Given the description of an element on the screen output the (x, y) to click on. 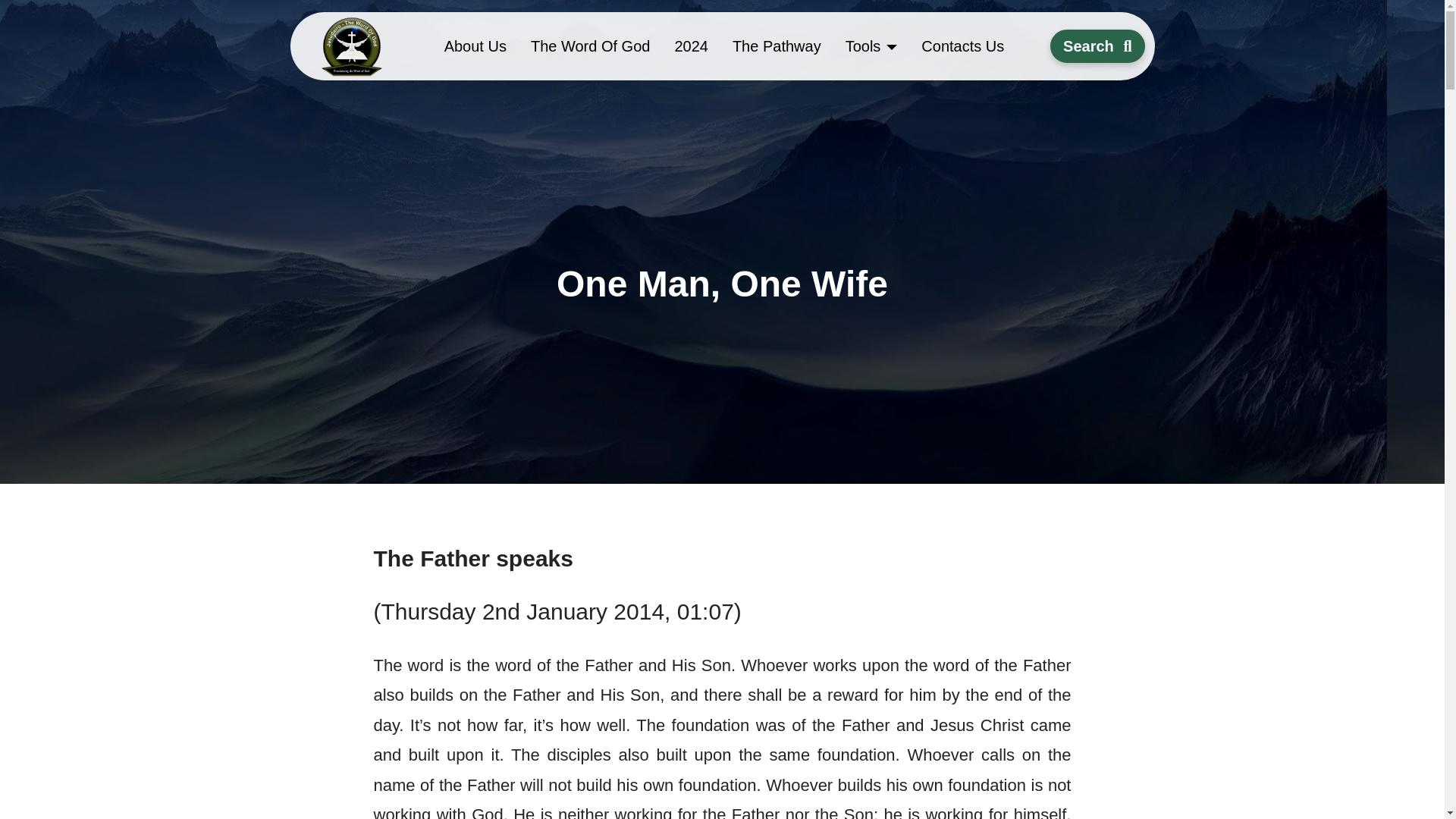
Contacts Us (962, 46)
2024 (691, 46)
Tools (871, 46)
Search (1096, 46)
About Us (475, 46)
The Pathway (776, 46)
The Word Of God (590, 46)
